Given the description of an element on the screen output the (x, y) to click on. 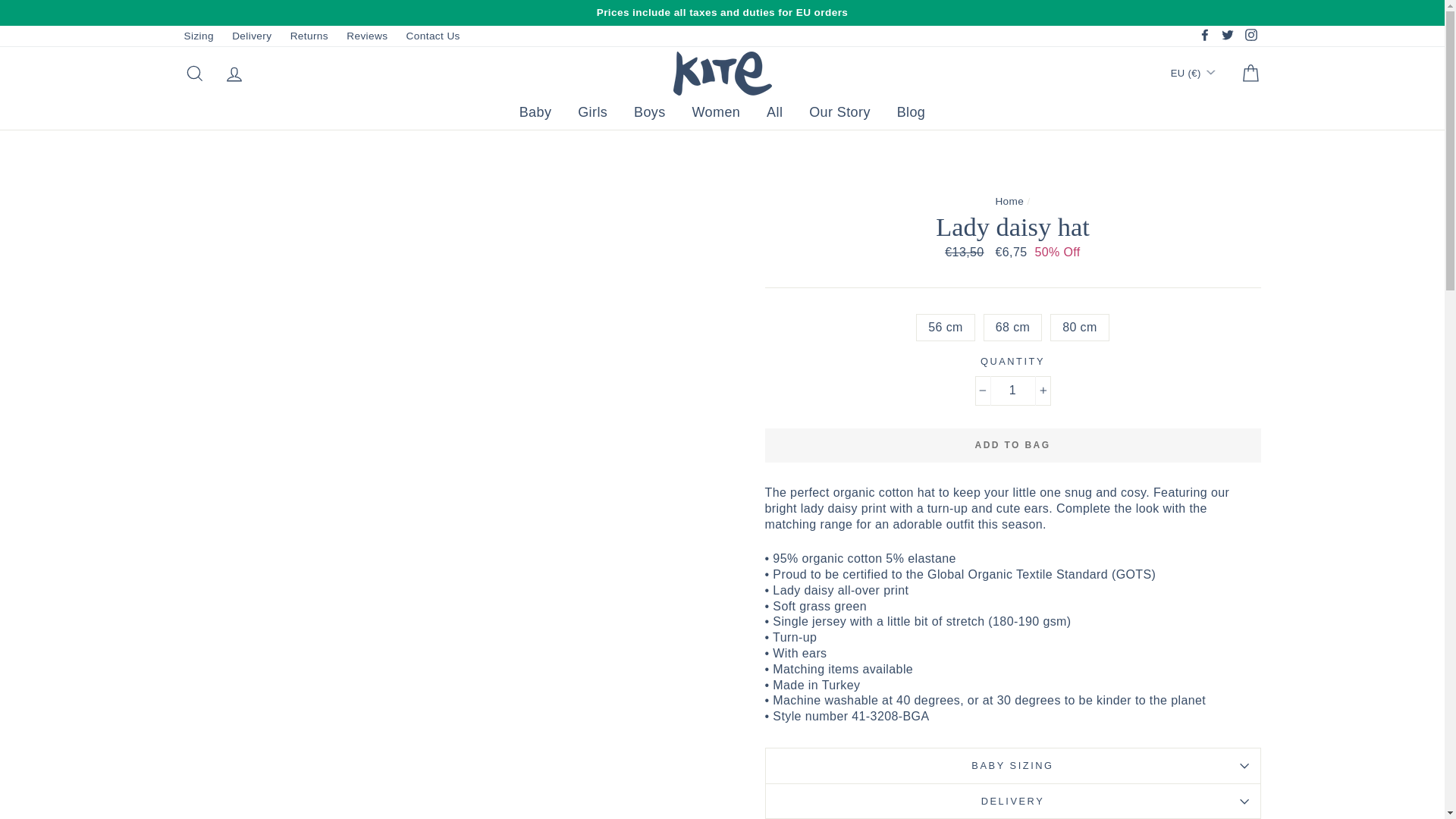
Kite Clothing on Instagram (1250, 35)
Kite Clothing on Twitter (1227, 35)
1 (1013, 390)
Kite Clothing on Facebook (1204, 35)
Back to the frontpage (1008, 201)
